Given the description of an element on the screen output the (x, y) to click on. 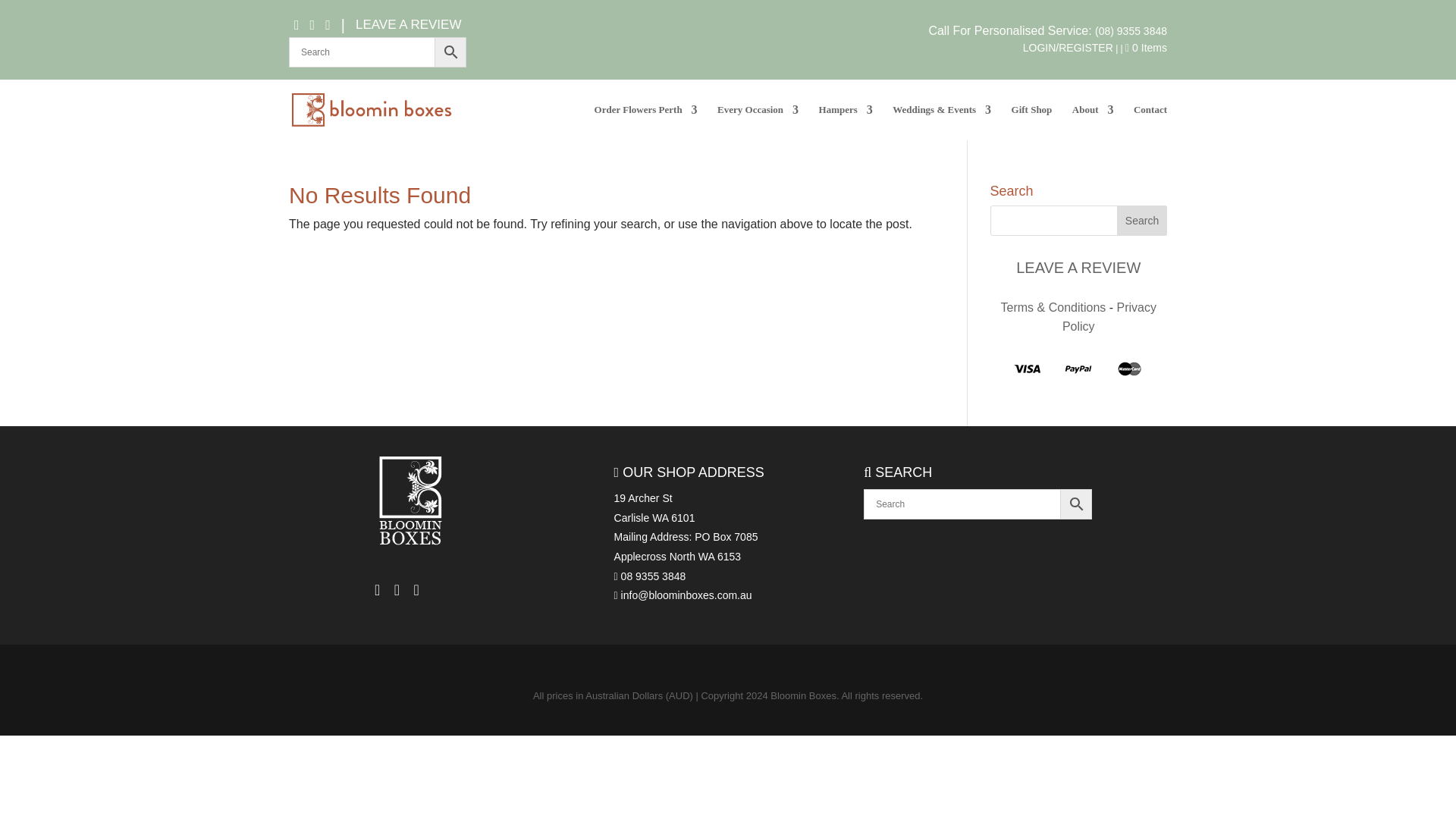
Every Occasion (757, 122)
LEAVE A REVIEW (1078, 268)
LEAVE A REVIEW (408, 23)
Search (1141, 220)
Gift Shop (1031, 122)
Order Flowers Perth (645, 122)
Privacy Policy (1109, 317)
Hampers (845, 122)
About (1092, 122)
Contact (1150, 122)
